Given the description of an element on the screen output the (x, y) to click on. 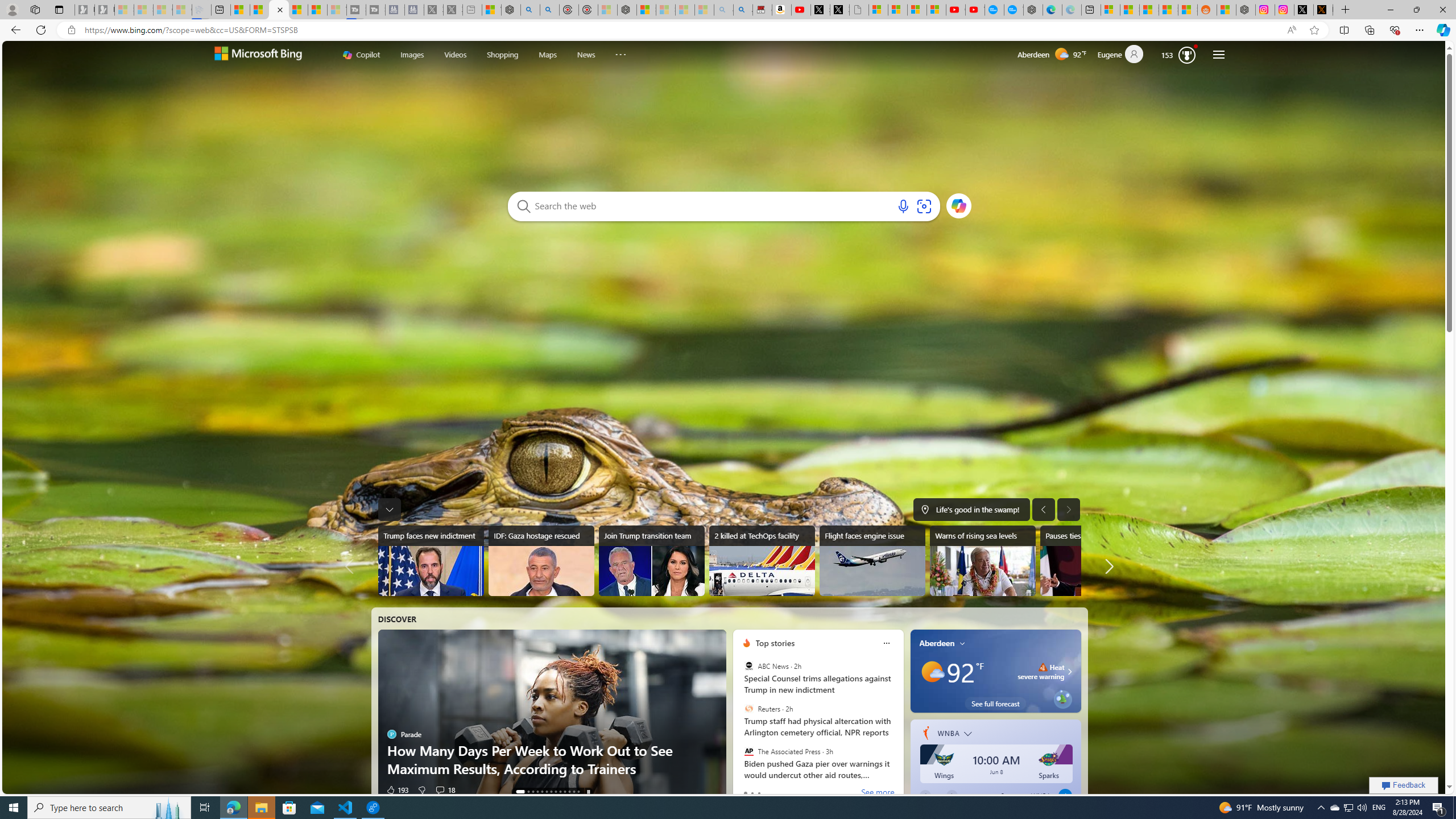
0 characters out of 2000 (713, 205)
Previous news (352, 566)
Previous image (1043, 508)
Feedback (1403, 785)
Streaming Coverage | T3 - Sleeping (356, 9)
AutomationID: tab-12 (578, 791)
Untitled (858, 9)
Class: icon-img (962, 643)
AutomationID: tab-8 (559, 791)
Top stories (774, 643)
Eugene (1125, 54)
